Given the description of an element on the screen output the (x, y) to click on. 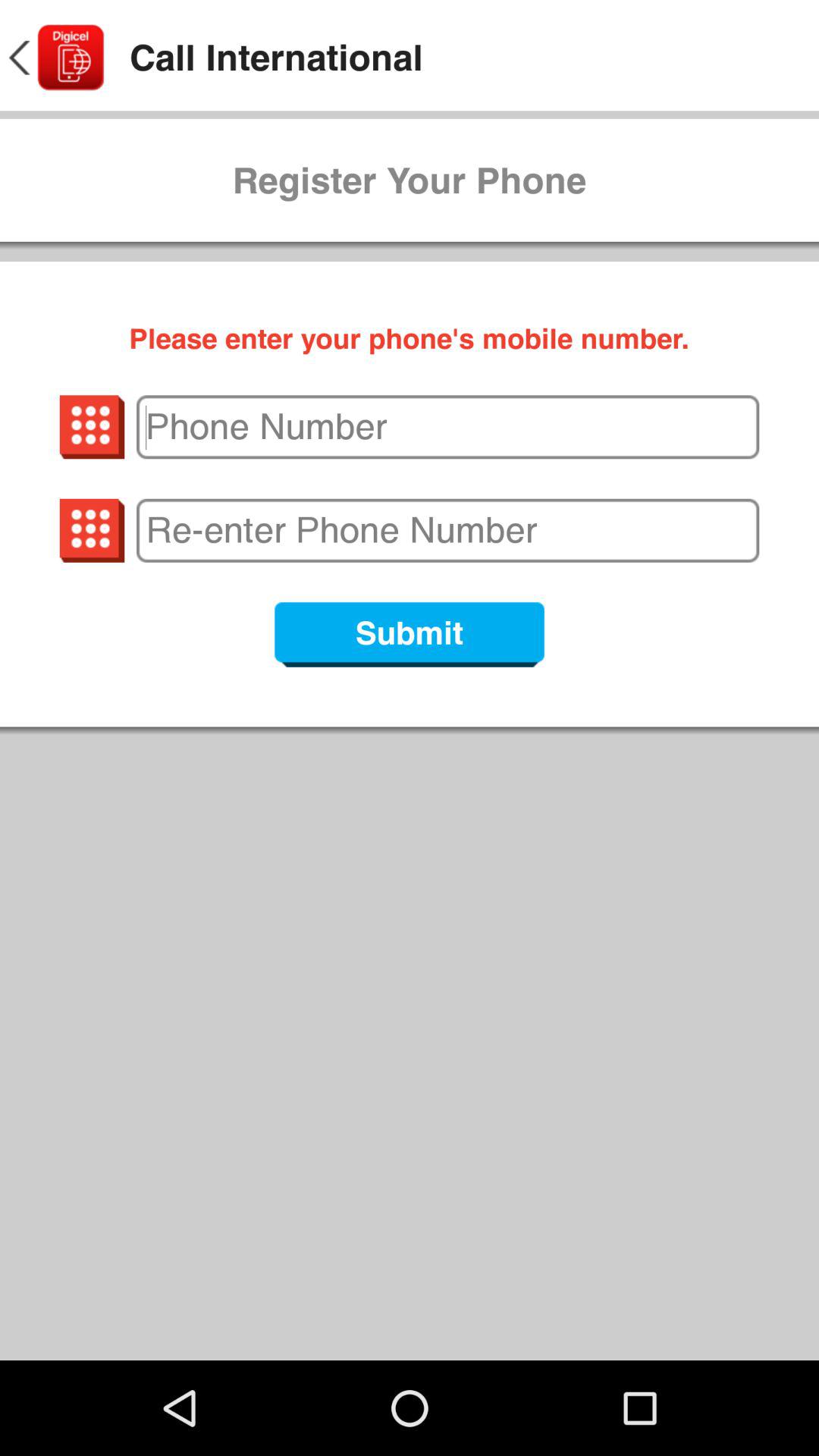
launch the icon next to the call international (54, 57)
